Given the description of an element on the screen output the (x, y) to click on. 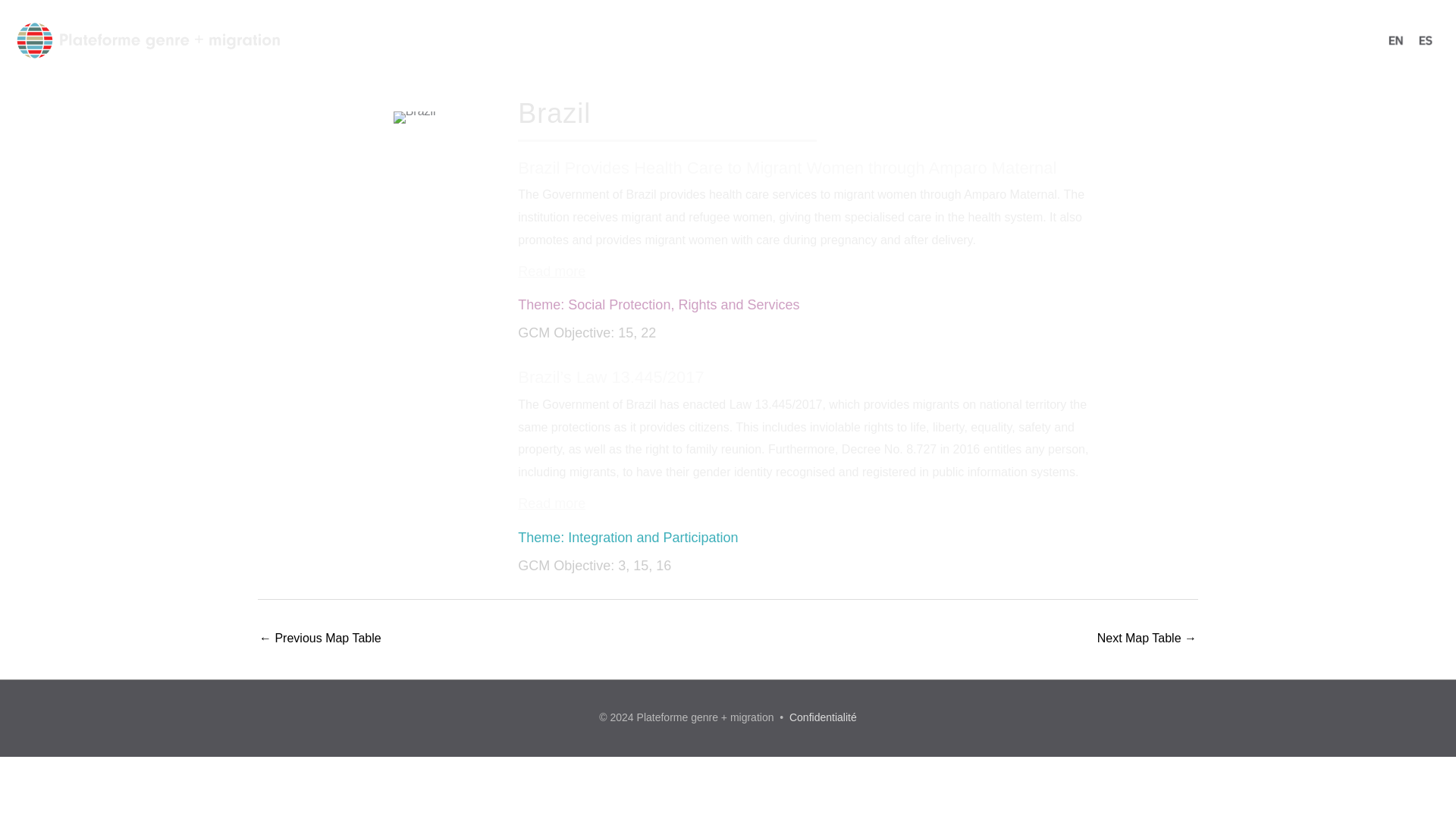
Ressources (950, 40)
Argentina Map 1 (320, 639)
Ecuador Map 1 (1146, 639)
Outils (1079, 40)
Carte (1024, 40)
Partager (1144, 40)
Brazil (414, 117)
Read more (551, 503)
